Given the description of an element on the screen output the (x, y) to click on. 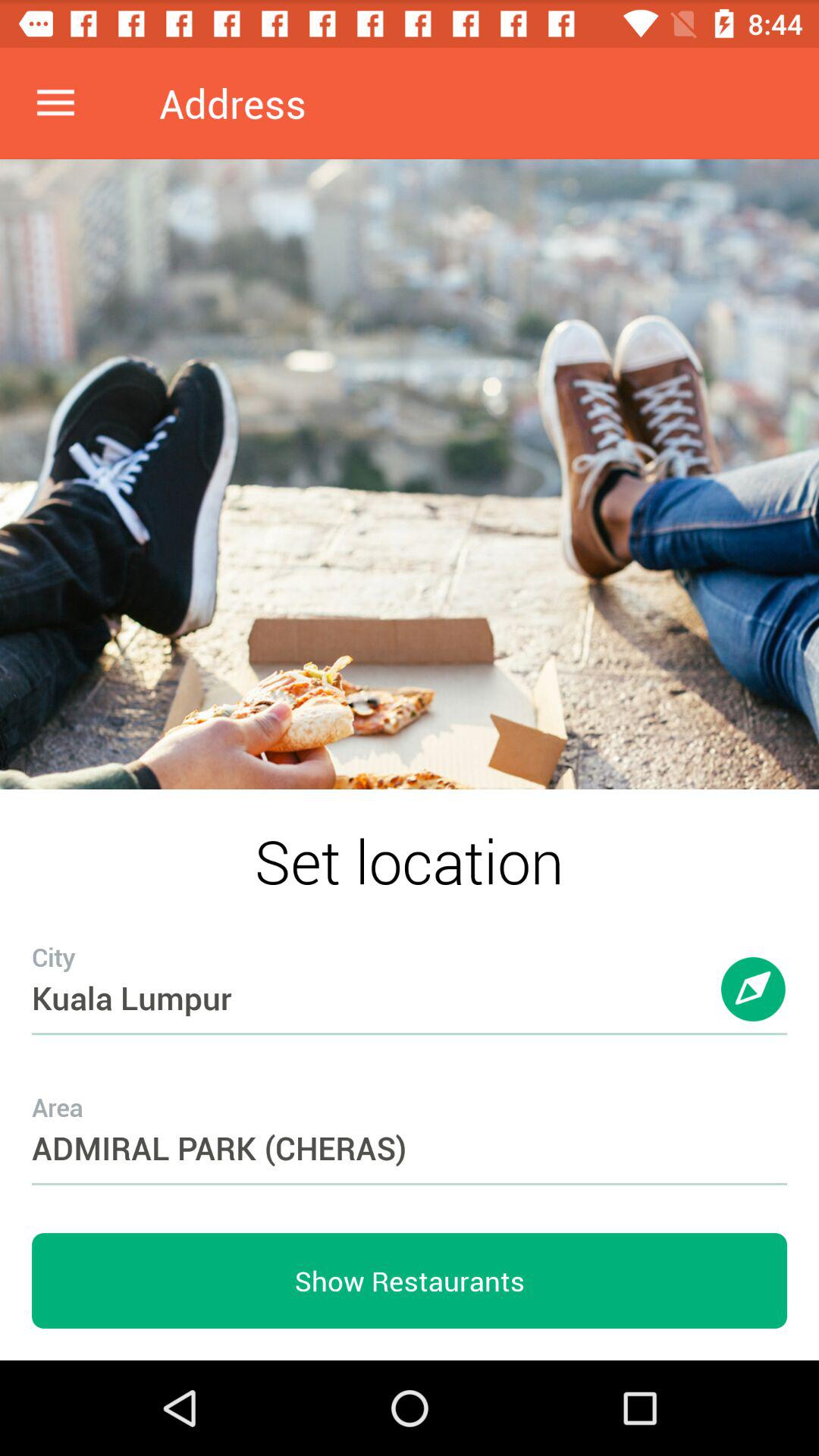
location button (754, 1004)
